Given the description of an element on the screen output the (x, y) to click on. 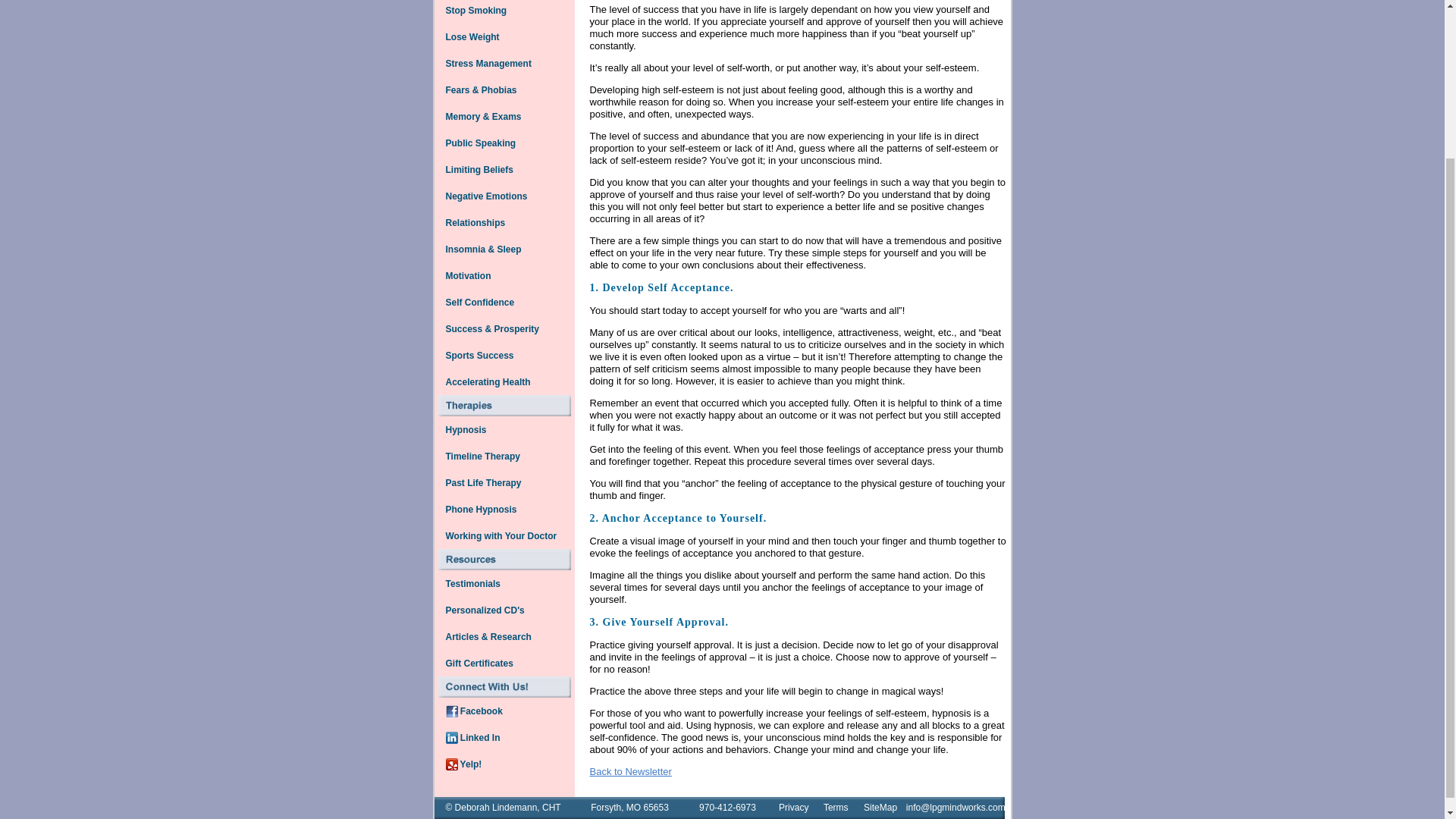
Motivation (468, 275)
Personalized CD's (484, 610)
Phone Hypnosis (480, 508)
Working with Your Doctor (500, 536)
Facebook (473, 710)
Sports Success (478, 355)
Self Confidence (479, 302)
Yelp! (462, 763)
Negative Emotions (486, 196)
Public Speaking (480, 143)
